Given the description of an element on the screen output the (x, y) to click on. 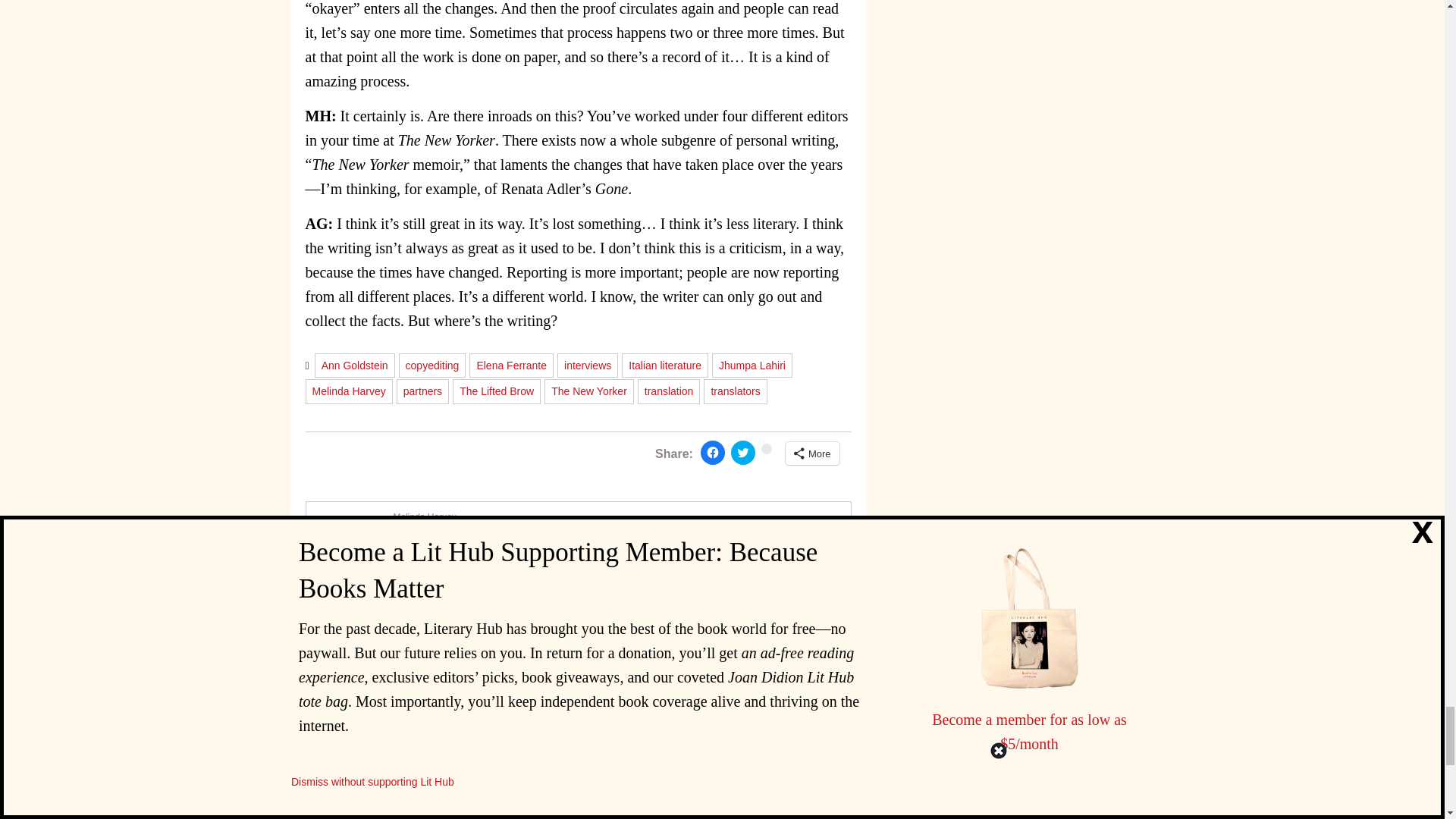
Click to share on Twitter (742, 452)
Share on Facebook (712, 452)
